Given the description of an element on the screen output the (x, y) to click on. 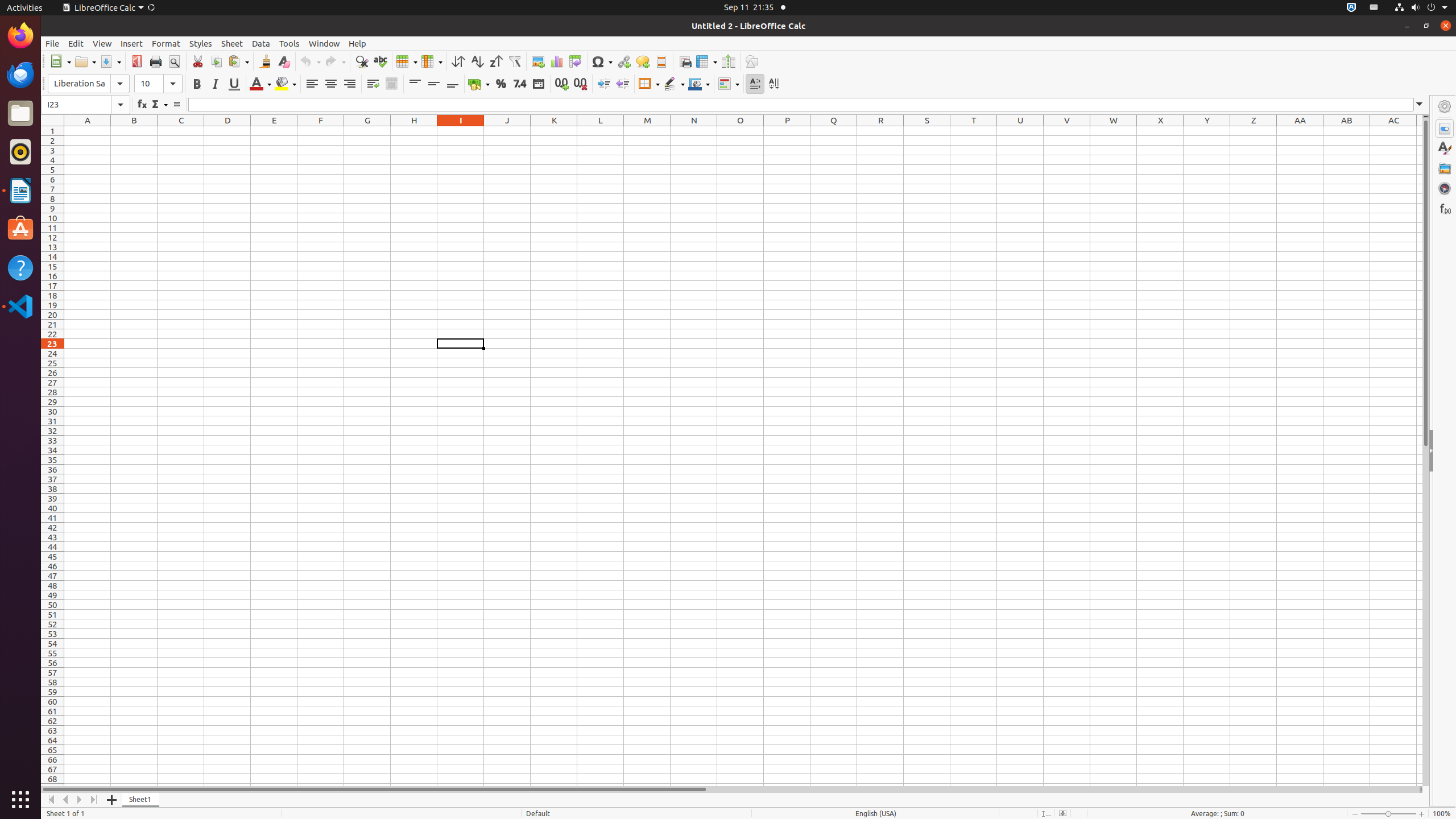
Clear Element type: push-button (283, 61)
Move To Home Element type: push-button (51, 799)
Add Decimal Place Element type: push-button (561, 83)
Center Vertically Element type: push-button (433, 83)
Styles Element type: radio-button (1444, 148)
